Given the description of an element on the screen output the (x, y) to click on. 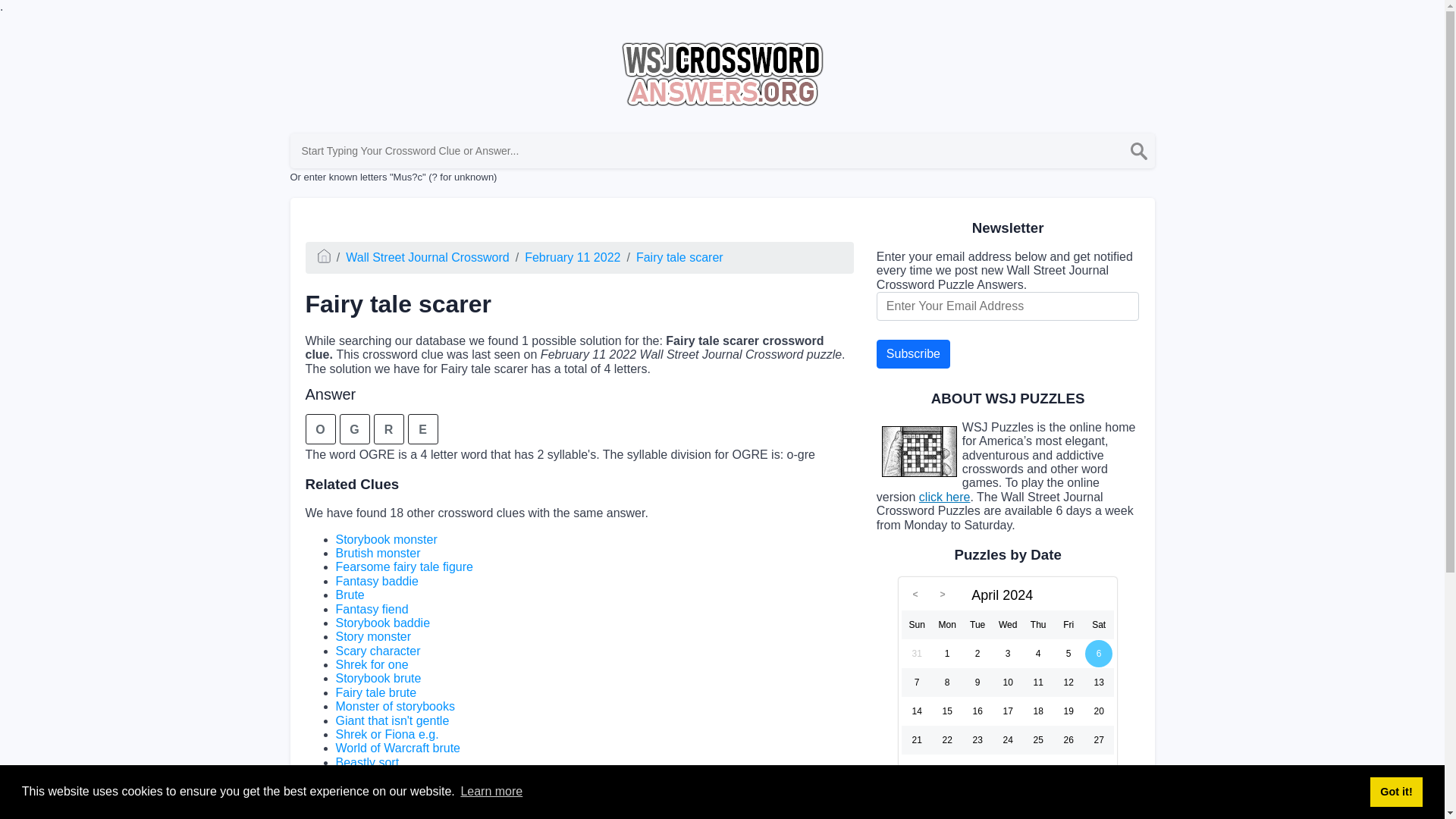
Storybook monster (385, 539)
Scary character (377, 650)
Fairy tale brute (375, 692)
Shrek for one (370, 664)
Story monster (372, 635)
click here (944, 496)
Learn more (491, 791)
Shrek or Fiona e.g. (386, 734)
Storybook brute (377, 677)
Beastly sort (366, 762)
Wall Street Journal Crossword (427, 256)
Fantasy fiend (370, 608)
Cruel brute (364, 775)
Got it! (1396, 791)
Subscribe (913, 353)
